Given the description of an element on the screen output the (x, y) to click on. 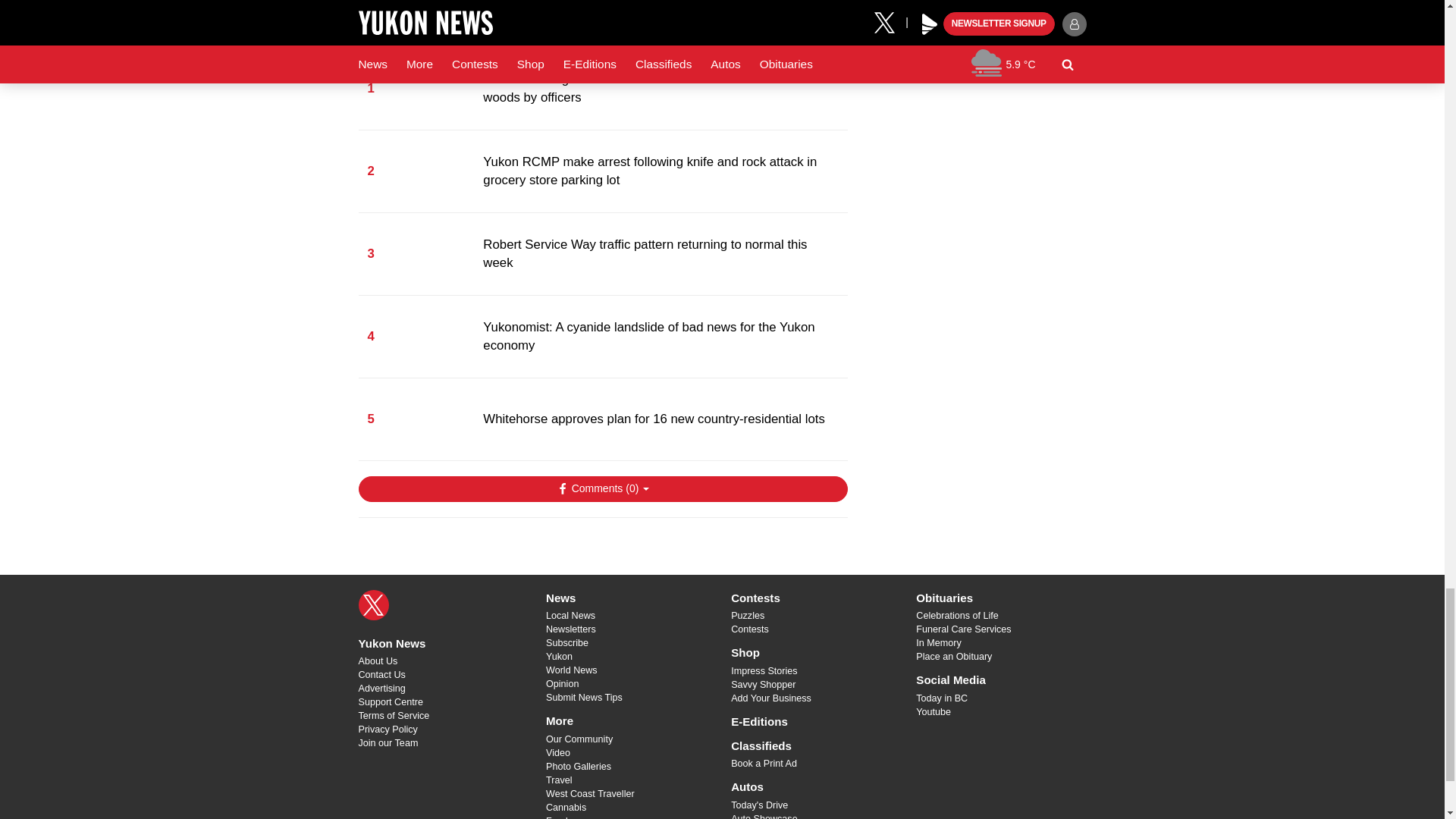
Show Comments (602, 488)
X (373, 604)
